Given the description of an element on the screen output the (x, y) to click on. 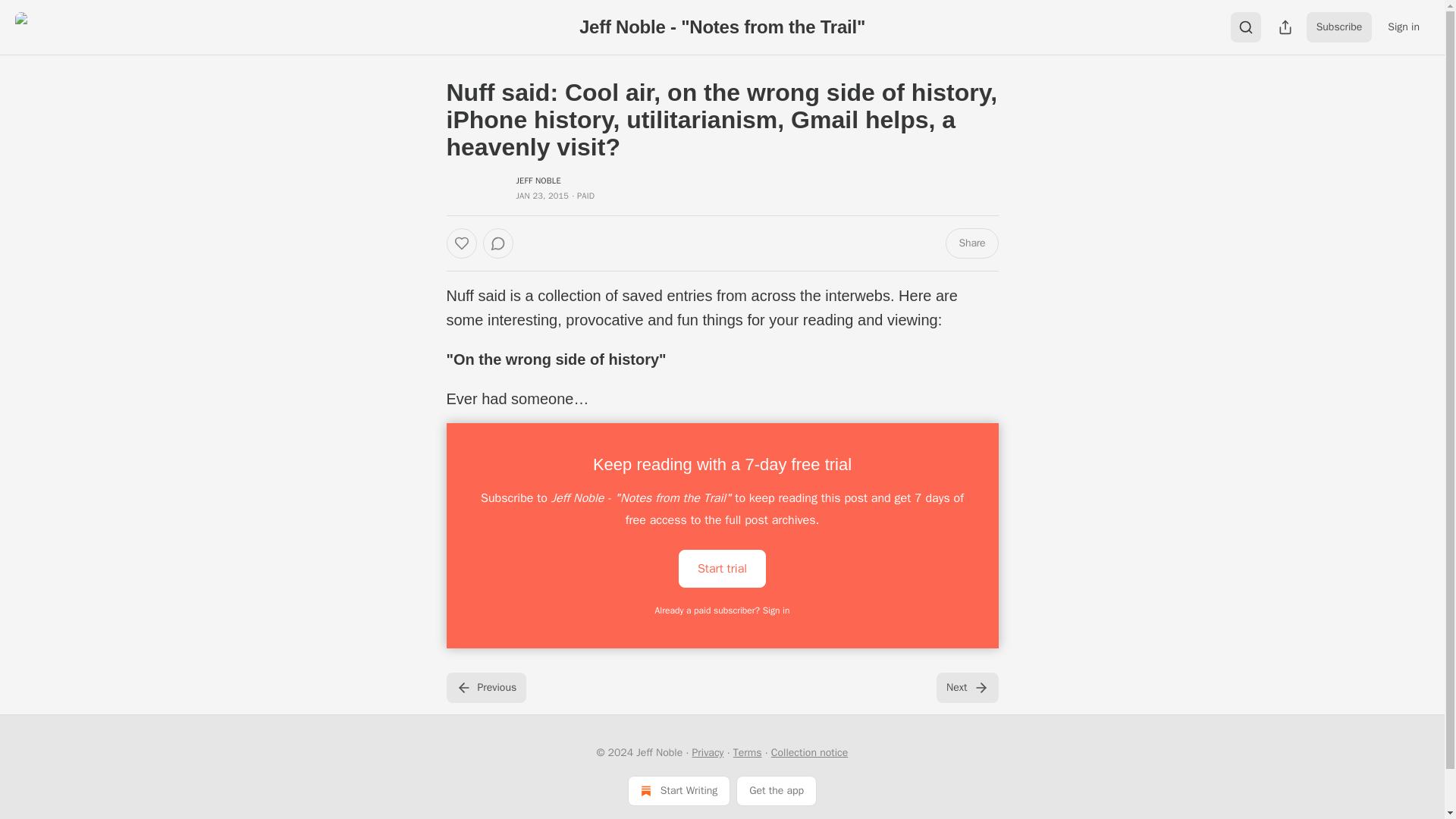
Privacy (708, 752)
Start trial (721, 567)
Next (966, 687)
Share (970, 243)
Already a paid subscriber? Sign in (722, 610)
Terms (747, 752)
JEFF NOBLE (537, 180)
Jeff Noble - "Notes from the Trail" (721, 26)
Start trial (721, 568)
Previous (485, 687)
Start Writing (678, 790)
Get the app (776, 790)
Collection notice (809, 752)
Sign in (1403, 27)
Subscribe (1339, 27)
